Given the description of an element on the screen output the (x, y) to click on. 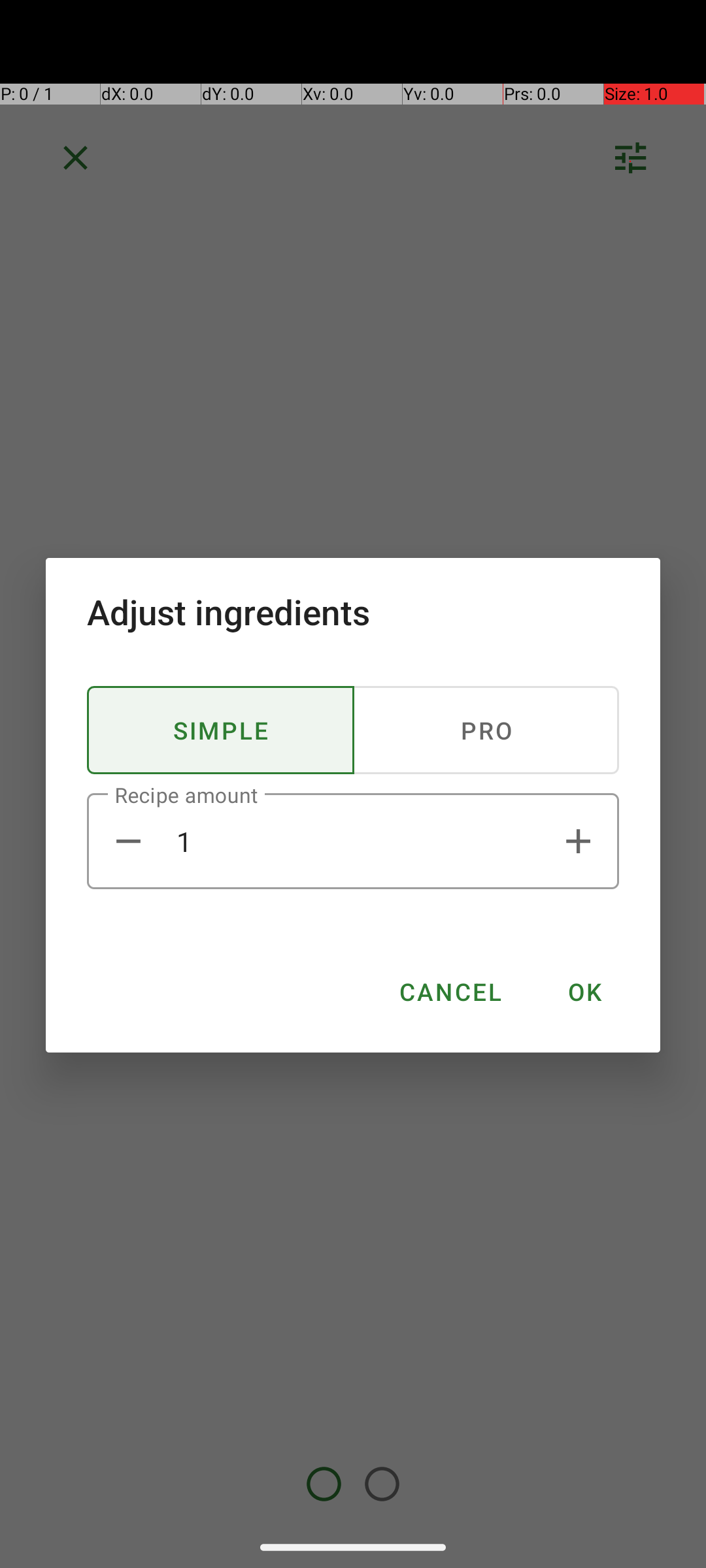
Adjust ingredients Element type: android.widget.TextView (352, 611)
SIMPLE Element type: android.widget.CompoundButton (220, 730)
PRO Element type: android.widget.CompoundButton (485, 730)
